Given the description of an element on the screen output the (x, y) to click on. 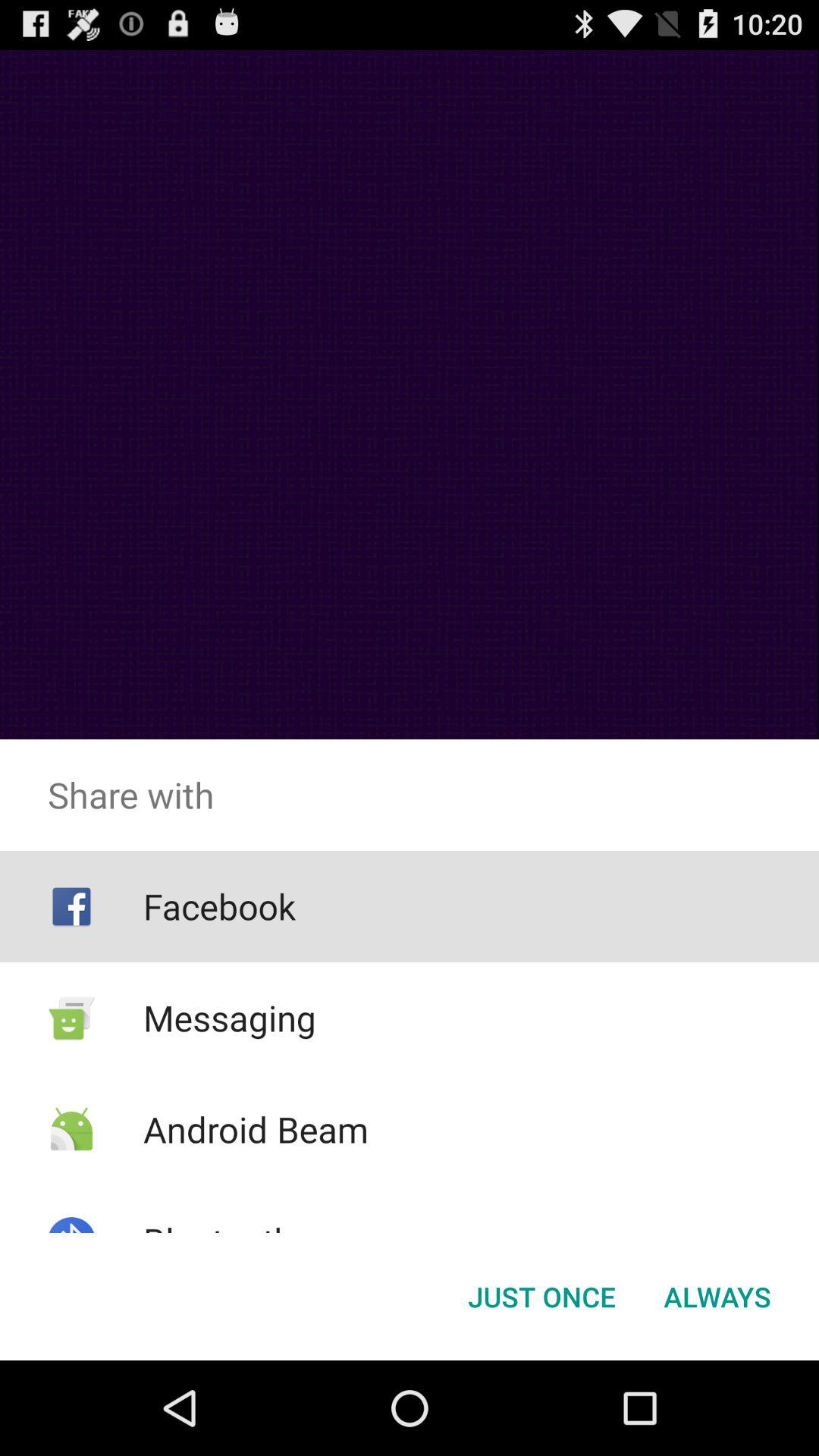
tap app below the share with (541, 1296)
